Given the description of an element on the screen output the (x, y) to click on. 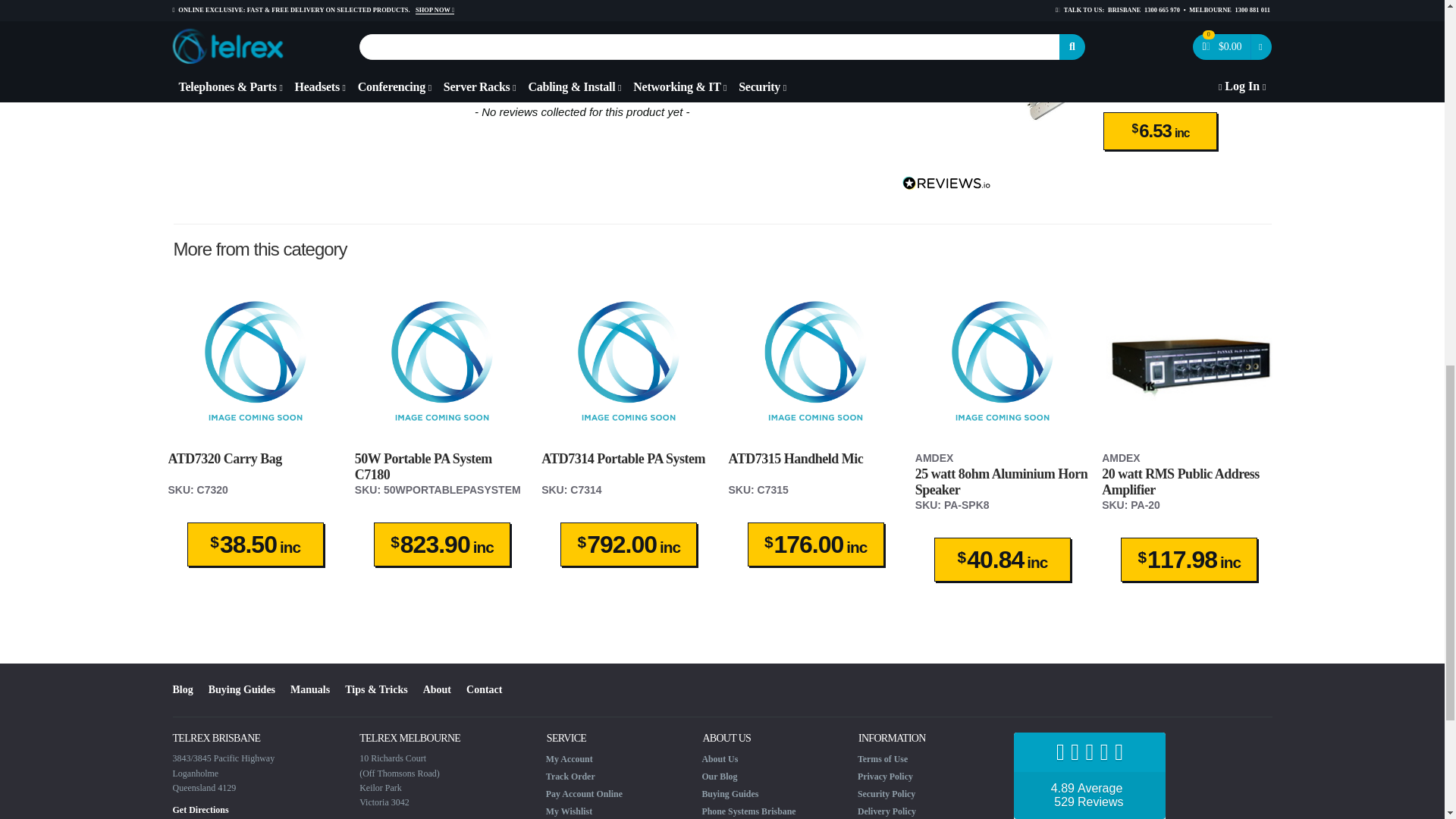
Reviews Badge Widget (1089, 775)
